Given the description of an element on the screen output the (x, y) to click on. 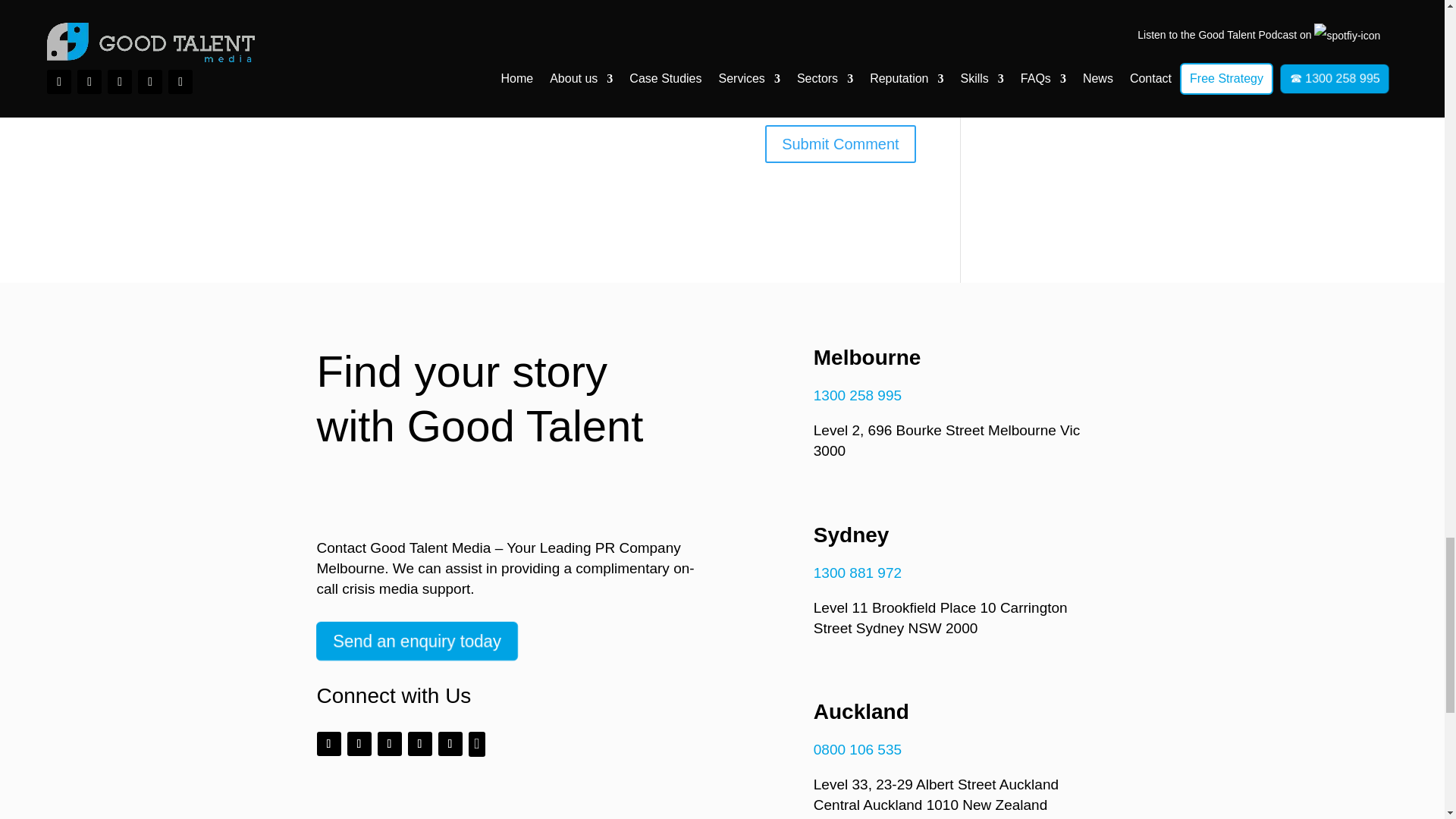
Follow on Instagram (359, 743)
Submit Comment (840, 143)
Follow on Youtube (450, 743)
Follow on Facebook (328, 743)
yes (319, 98)
Follow on X (389, 743)
Follow on LinkedIn (419, 743)
